Given the description of an element on the screen output the (x, y) to click on. 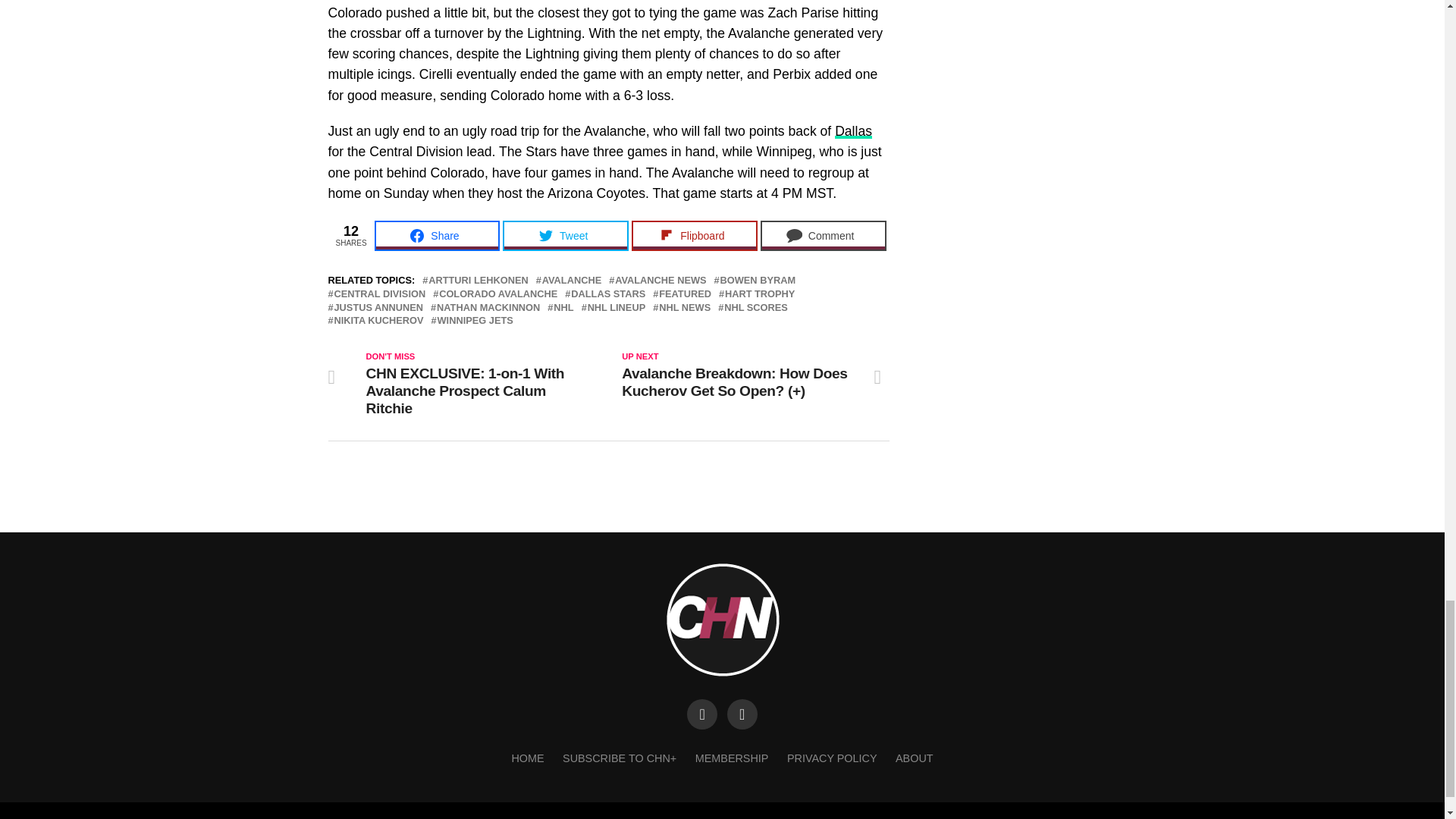
Share on Share (437, 235)
Share on Flipboard (694, 235)
Share on Tweet (565, 235)
Share on Comment (823, 235)
